Given the description of an element on the screen output the (x, y) to click on. 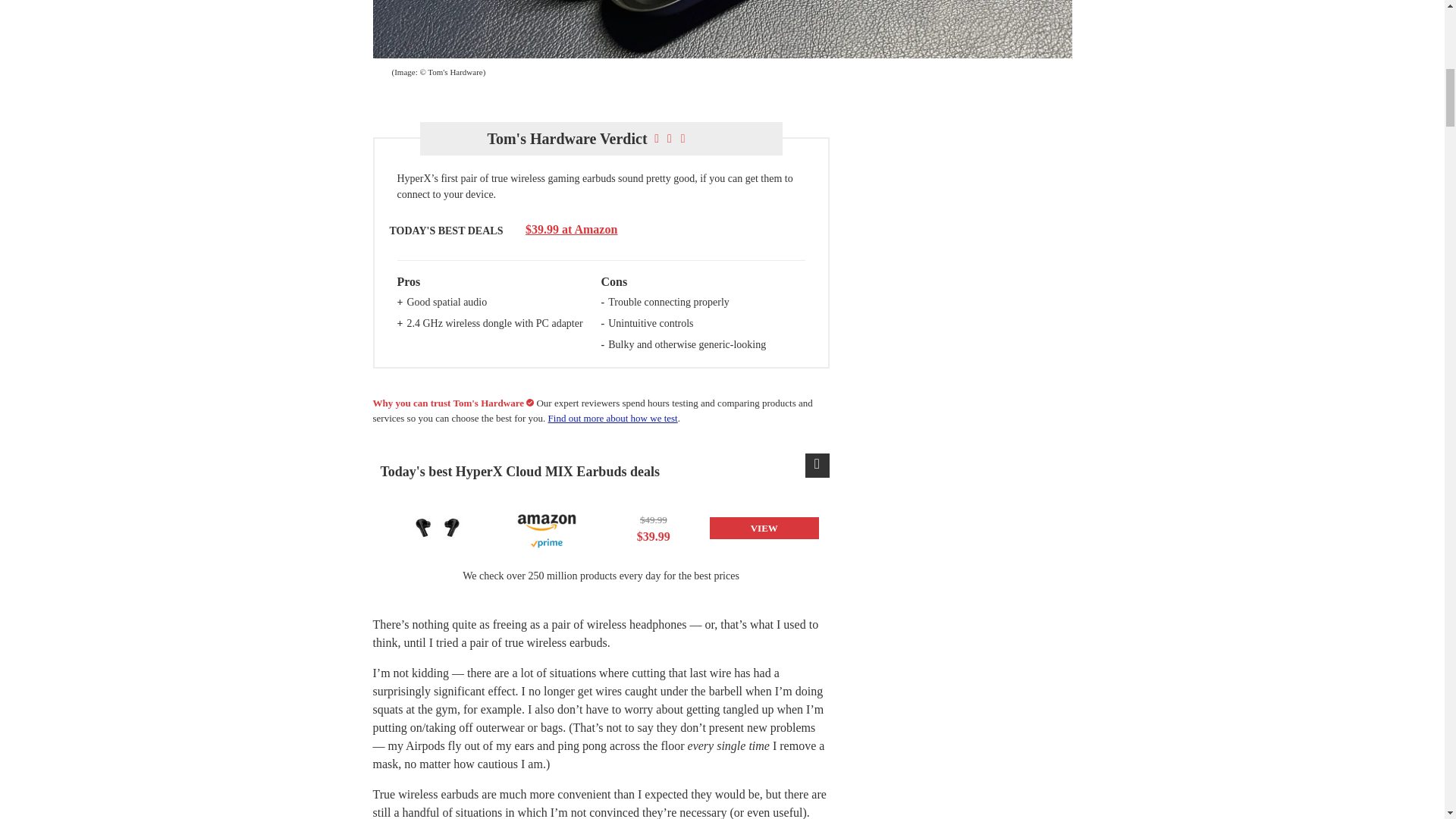
Prime (546, 543)
Amazon (546, 520)
HyperX Cloud MIX Buds - True... (437, 527)
